Given the description of an element on the screen output the (x, y) to click on. 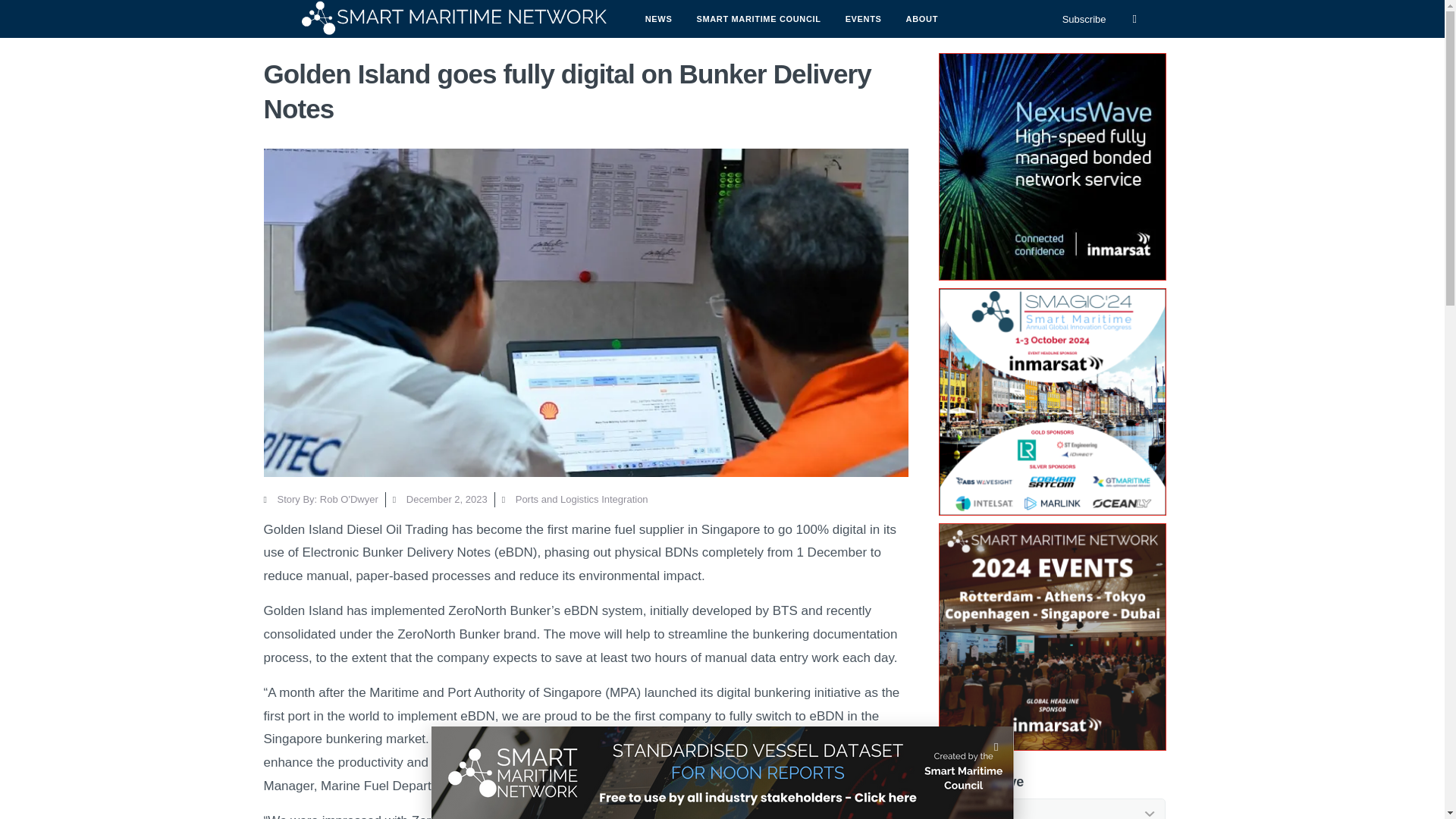
SMART MARITIME COUNCIL (758, 18)
SVD for Noon Reports Banner Ad Long (721, 772)
NEWS (658, 18)
